Given the description of an element on the screen output the (x, y) to click on. 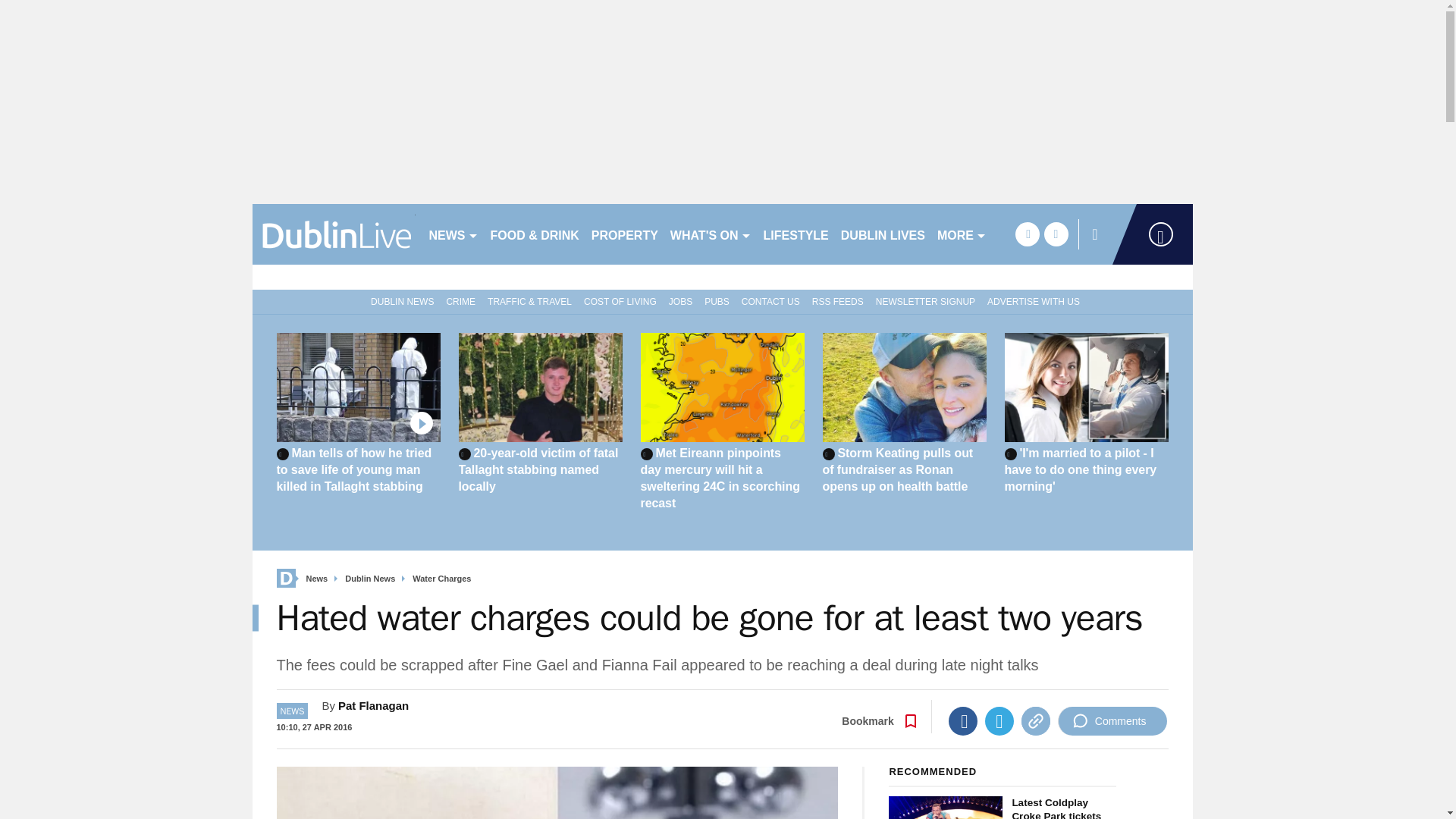
LIFESTYLE (795, 233)
NEWS (453, 233)
MORE (961, 233)
twitter (1055, 233)
PROPERTY (624, 233)
Facebook (962, 720)
WHAT'S ON (710, 233)
facebook (1026, 233)
Comments (1112, 720)
dublinlive (332, 233)
Twitter (999, 720)
DUBLIN LIVES (882, 233)
